Given the description of an element on the screen output the (x, y) to click on. 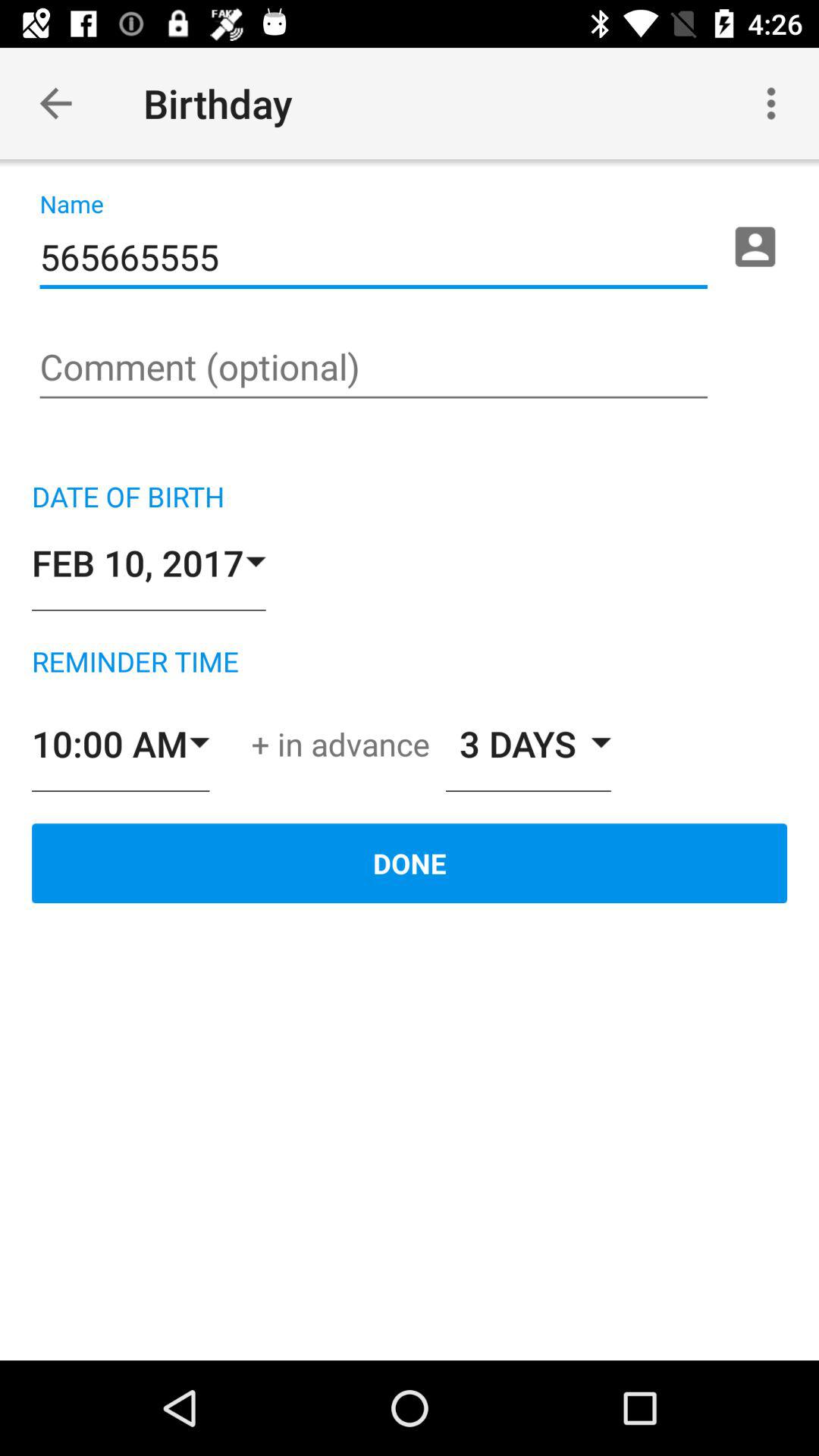
add picture (755, 246)
